Given the description of an element on the screen output the (x, y) to click on. 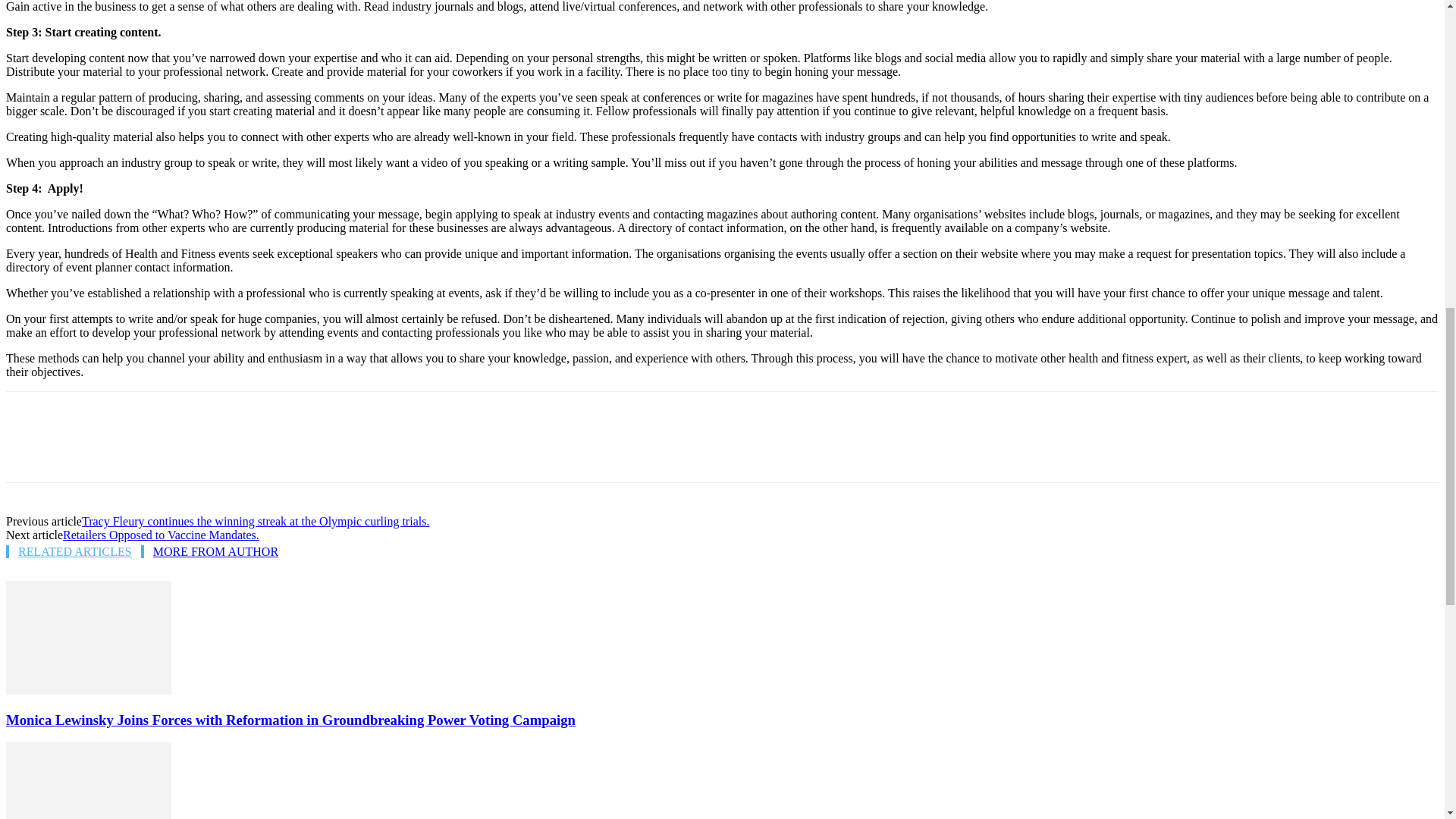
Retailers Opposed to Vaccine Mandates. (160, 534)
bottomFacebookLike (118, 415)
